Given the description of an element on the screen output the (x, y) to click on. 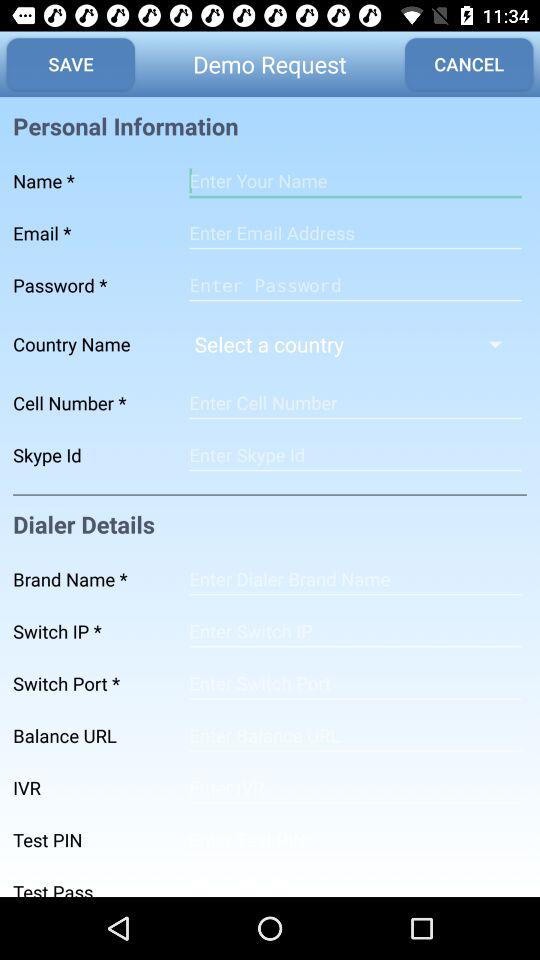
add skype id (355, 455)
